Given the description of an element on the screen output the (x, y) to click on. 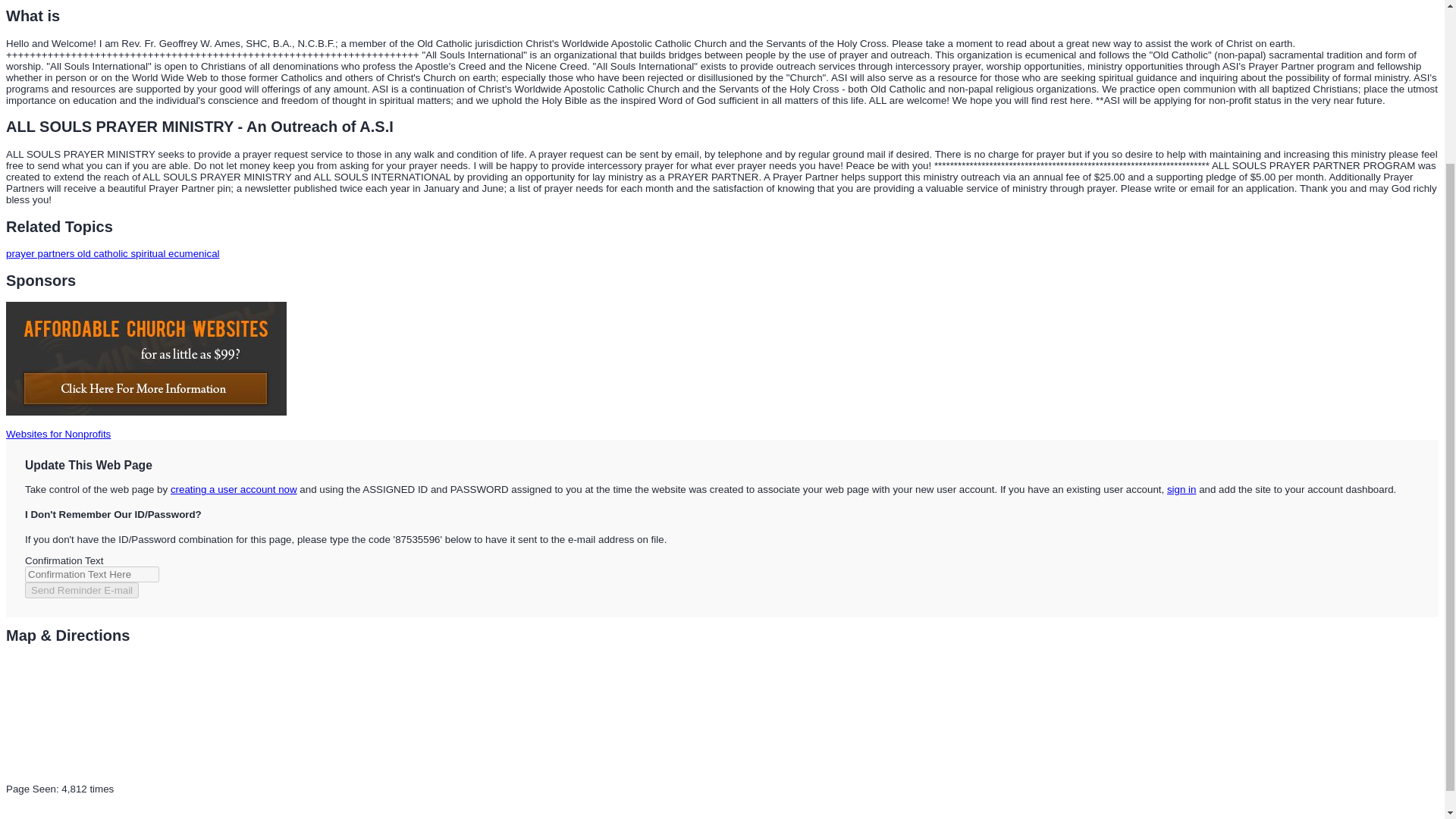
creating a user account now (233, 489)
prayer partners old catholic spiritual ecumenical (112, 253)
Send Reminder E-mail (81, 590)
Send Reminder E-mail (81, 590)
Websites for Nonprofits (57, 433)
sign in (1181, 489)
